Given the description of an element on the screen output the (x, y) to click on. 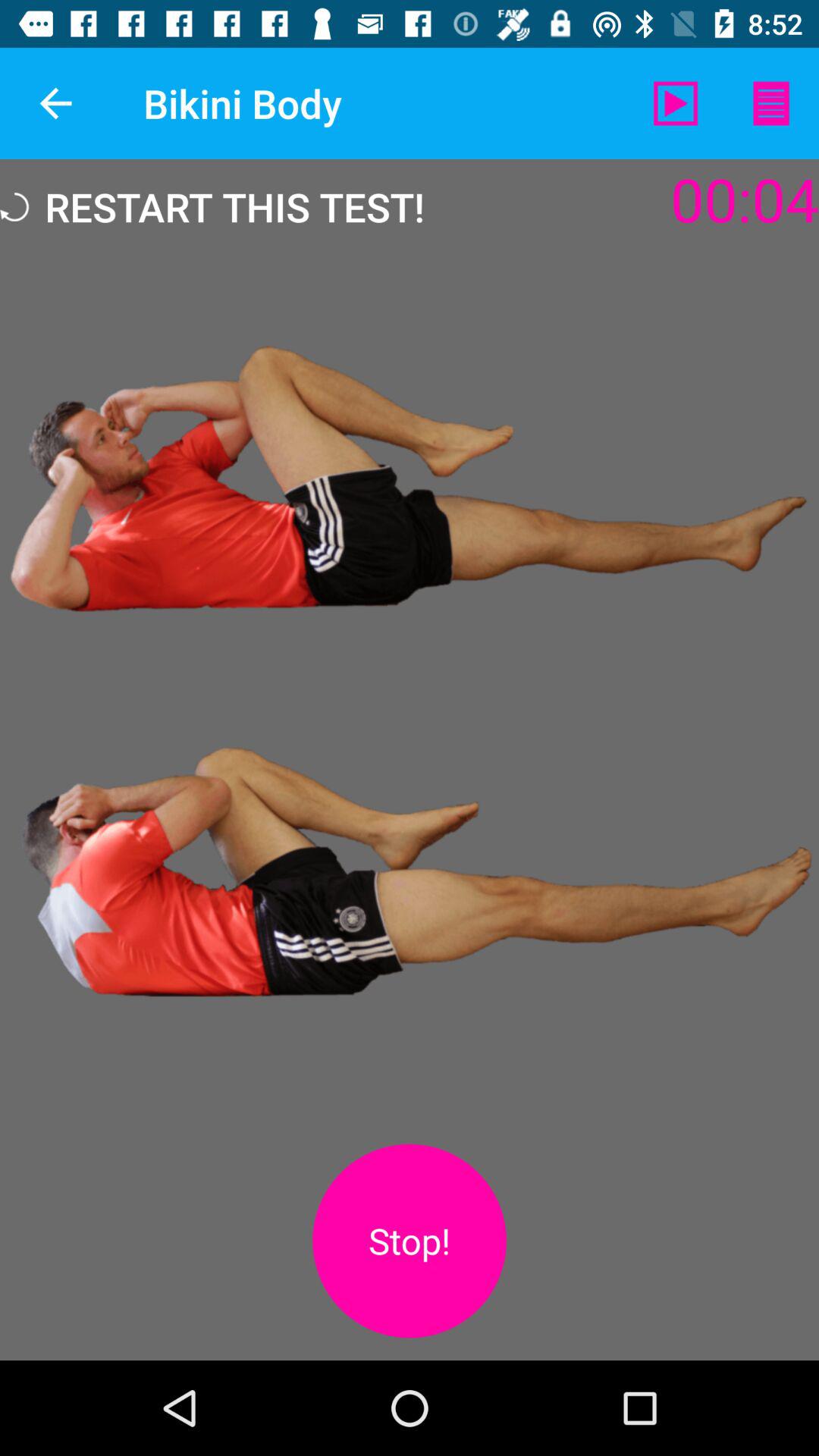
launch the icon above the 00:05 item (675, 103)
